Given the description of an element on the screen output the (x, y) to click on. 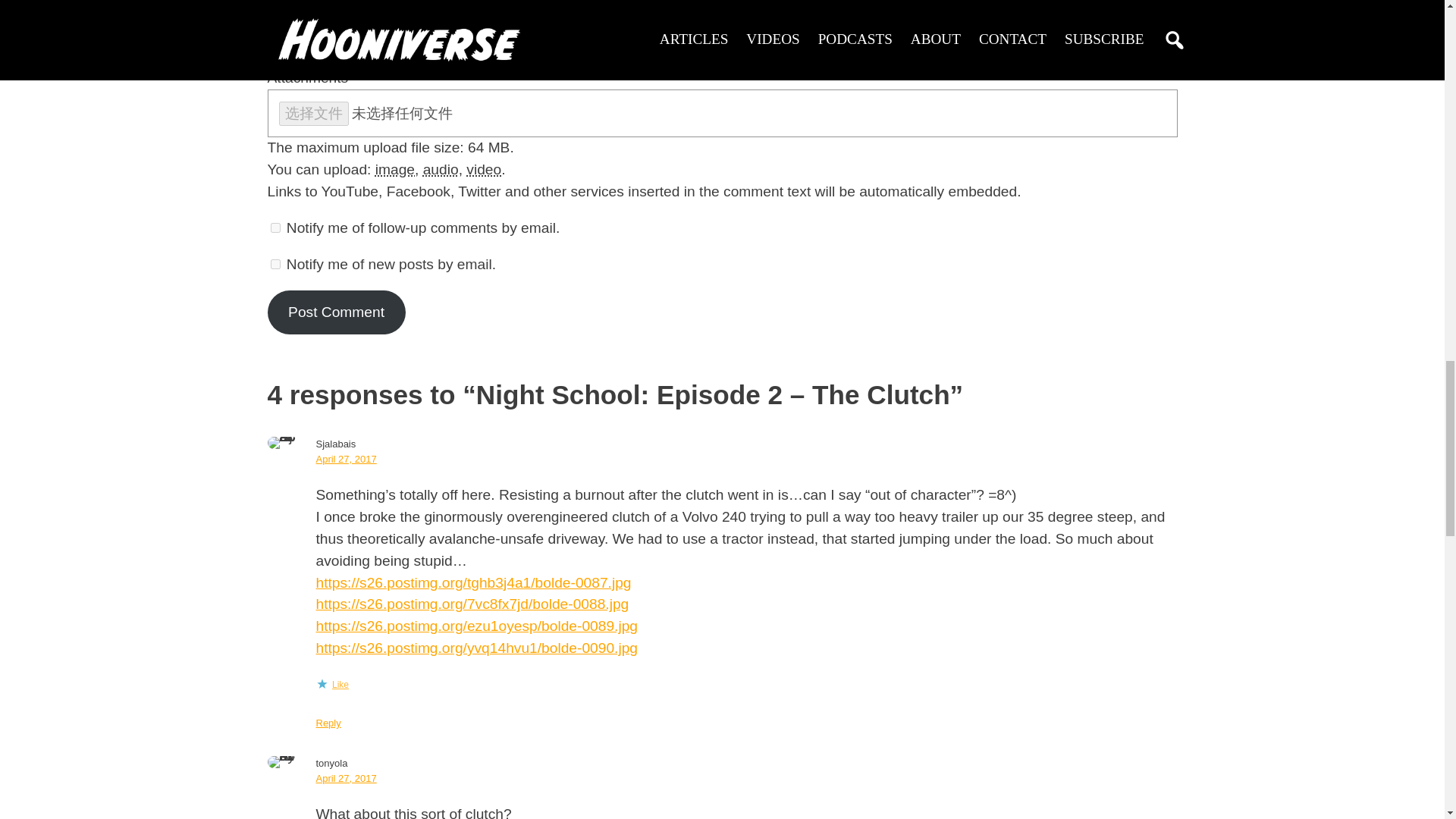
mp3, m4a, m4b, aac, ram, wav, ogg, oga, flac, wma, mka (440, 169)
April 27, 2017 (345, 778)
subscribe (274, 264)
Post Comment (335, 312)
Post Comment (335, 312)
April 27, 2017 (345, 459)
jpg, jpeg, jpe, gif, png, bmp, tiff, tif, ico, heic (394, 169)
Reply (327, 722)
subscribe (274, 227)
